Given the description of an element on the screen output the (x, y) to click on. 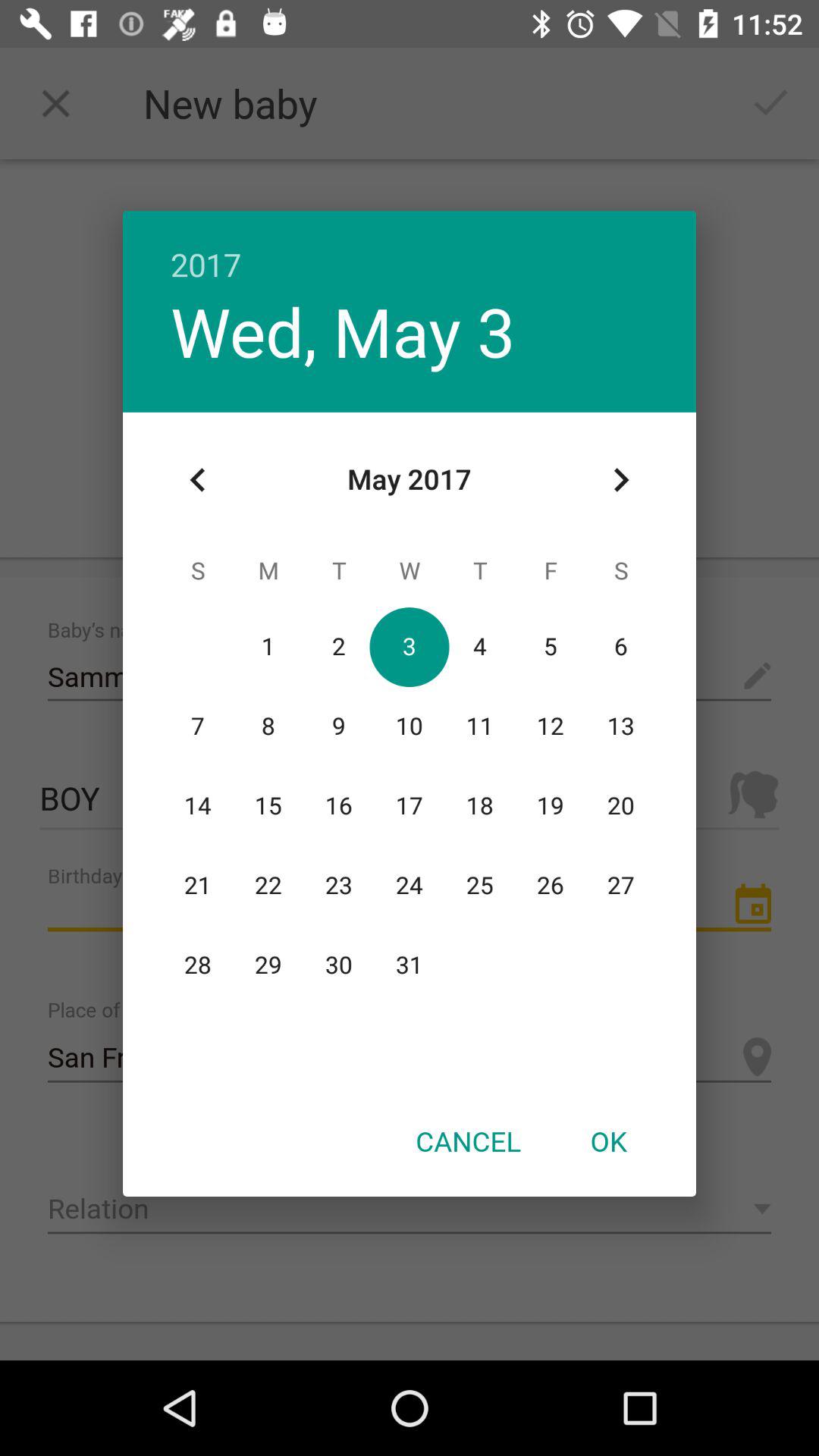
press icon at the top right corner (620, 479)
